Given the description of an element on the screen output the (x, y) to click on. 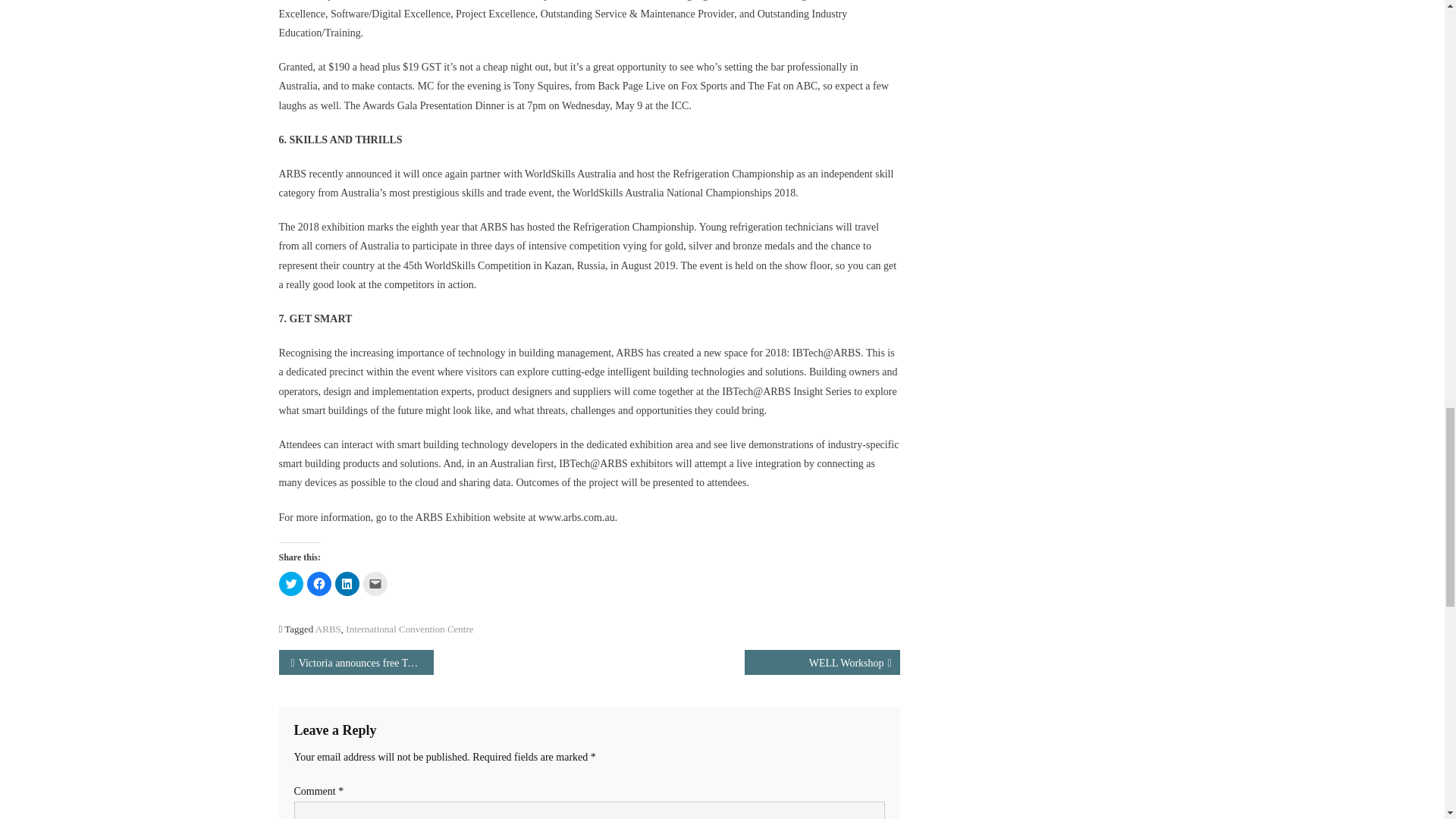
Click to share on LinkedIn (346, 583)
Click to share on Twitter (290, 583)
Click to share on Facebook (317, 583)
ARBS (327, 628)
Click to email a link to a friend (374, 583)
Victoria announces free TAFE courses (356, 662)
International Convention Centre (409, 628)
WELL Workshop (821, 662)
